Given the description of an element on the screen output the (x, y) to click on. 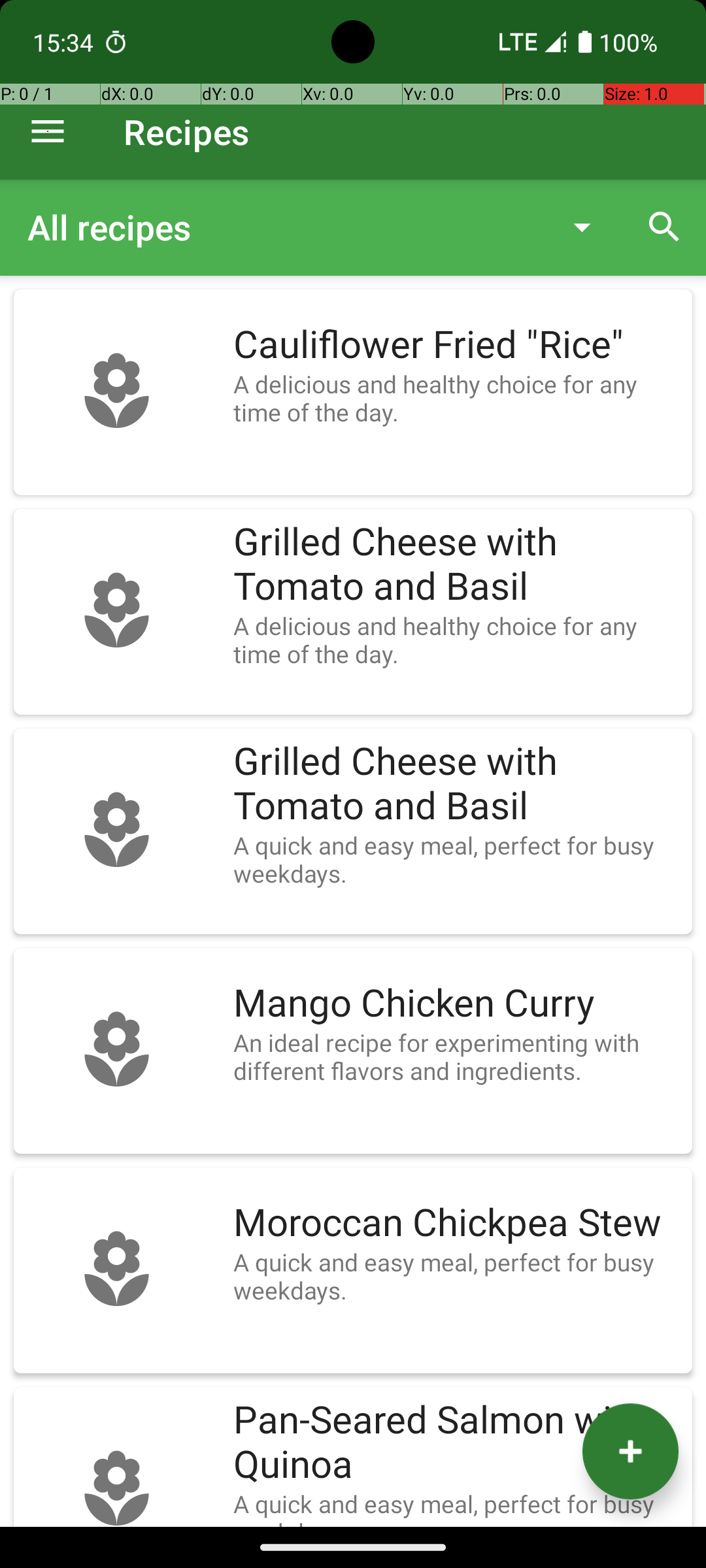
Mango Chicken Curry Element type: android.widget.TextView (455, 1003)
Pan-Seared Salmon with Quinoa Element type: android.widget.TextView (455, 1442)
